Given the description of an element on the screen output the (x, y) to click on. 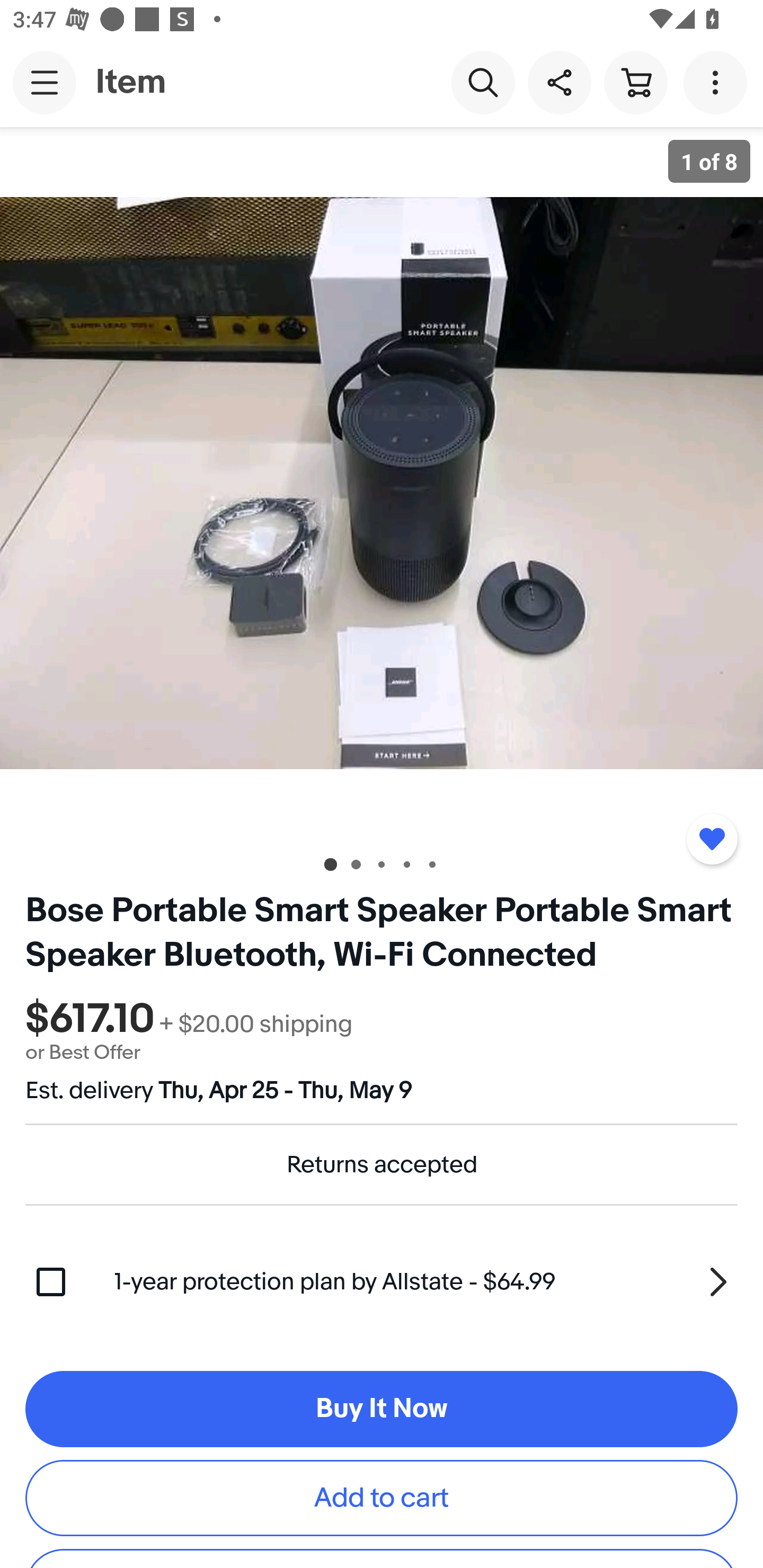
Main navigation, open (44, 82)
Search (482, 81)
Share this item (559, 81)
Cart button shopping cart (635, 81)
More options (718, 81)
Item image 1 of 8 (381, 482)
Added to watchlist (711, 838)
1-year protection plan by Allstate - $64.99 (425, 1281)
Buy It Now (381, 1408)
Add to cart (381, 1497)
